Given the description of an element on the screen output the (x, y) to click on. 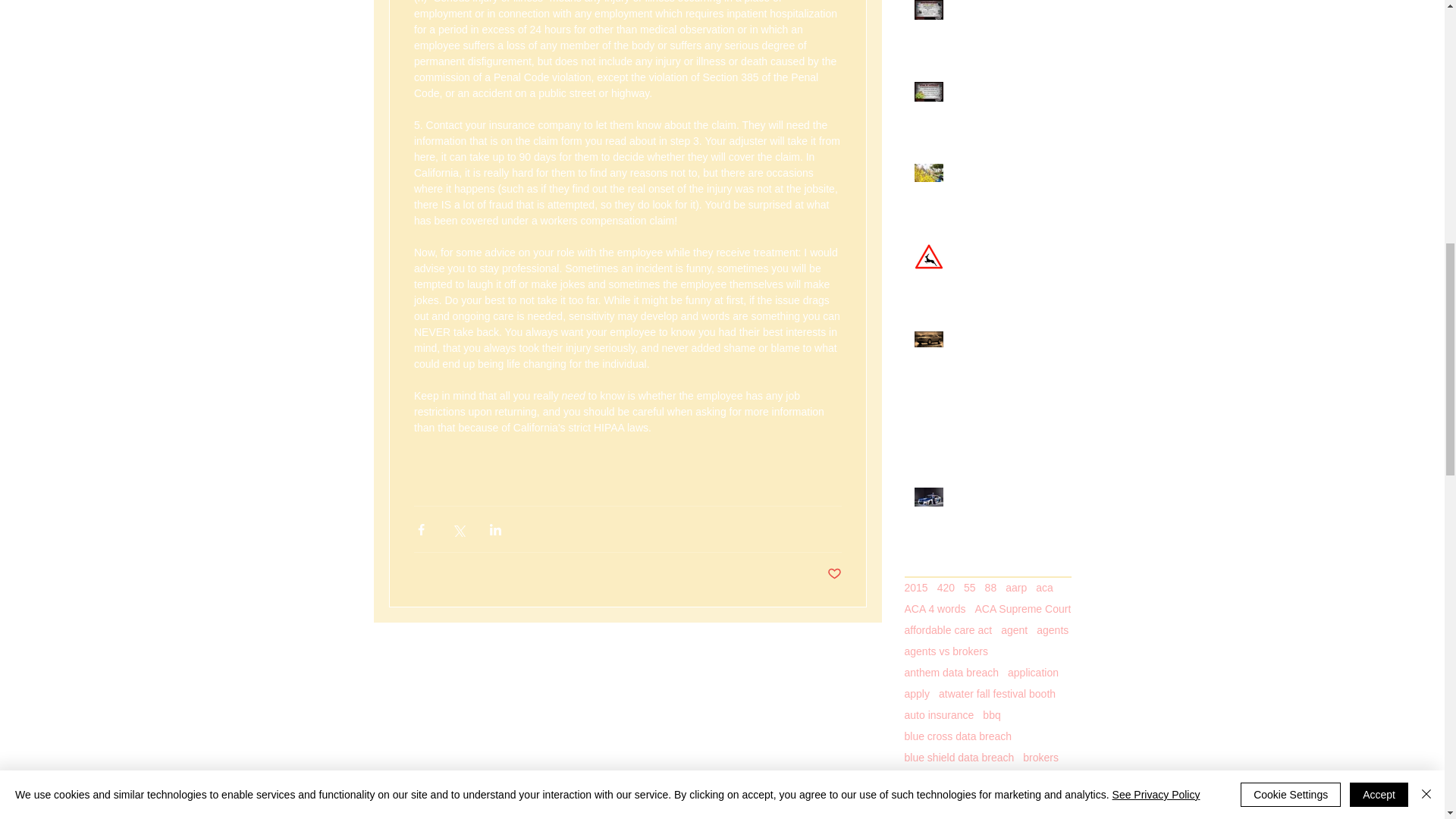
Car Safety (1006, 341)
Covering Cannabis (1006, 91)
Post not marked as liked (834, 574)
Cooking is a Leading Cause of Home Fires (992, 426)
Animal Collisions (1006, 253)
Spring Maintenance (1006, 173)
2015 (915, 587)
420 (946, 587)
NASCAR- Nationwide Car- What's Up? (1006, 504)
